Given the description of an element on the screen output the (x, y) to click on. 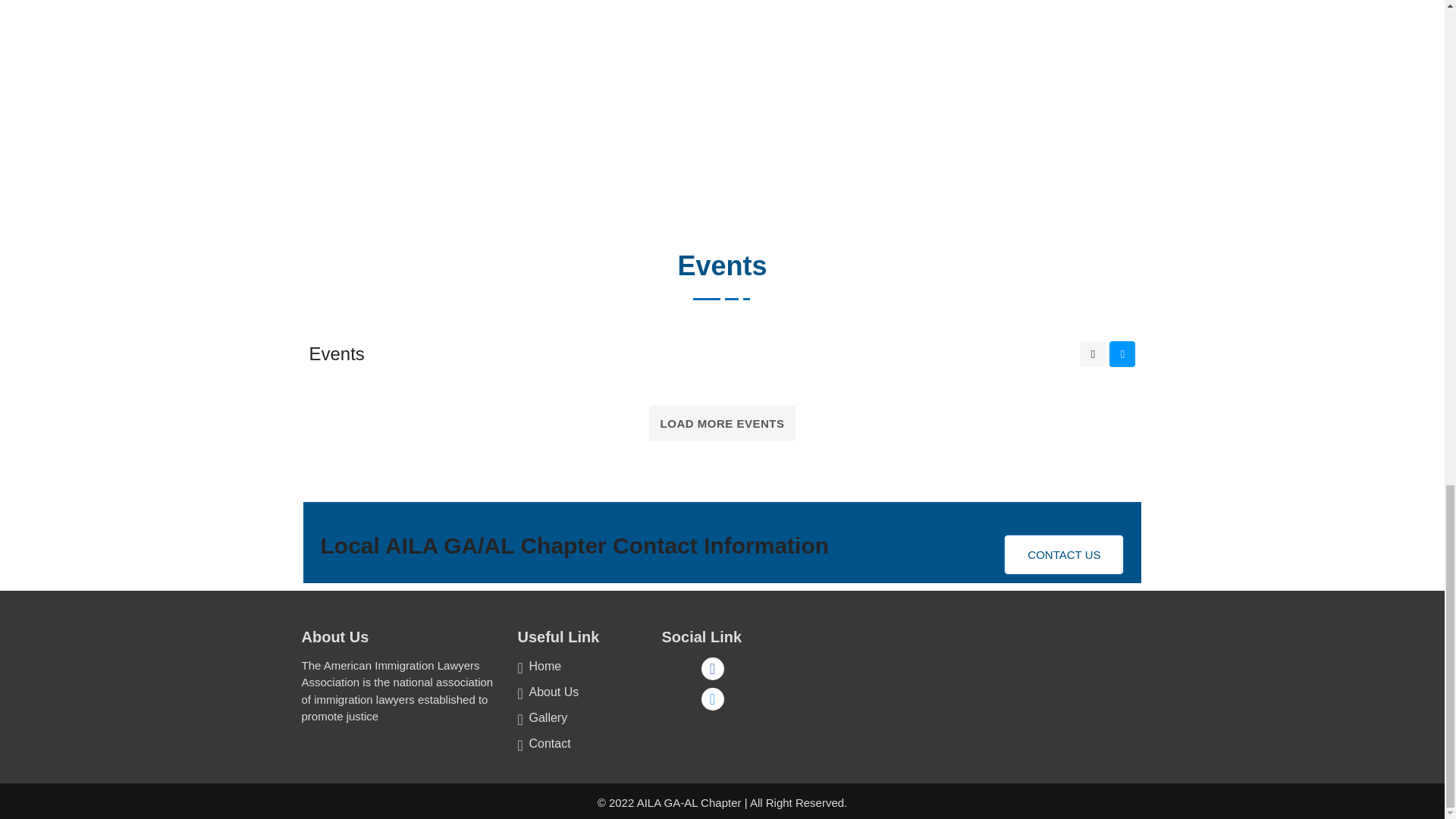
LOAD MORE EVENTS (722, 423)
Events Box View (1092, 353)
Gallery (541, 717)
Home (538, 666)
Contact (543, 743)
CONTACT US (1064, 554)
About Us (547, 691)
Events List View (1122, 353)
